Given the description of an element on the screen output the (x, y) to click on. 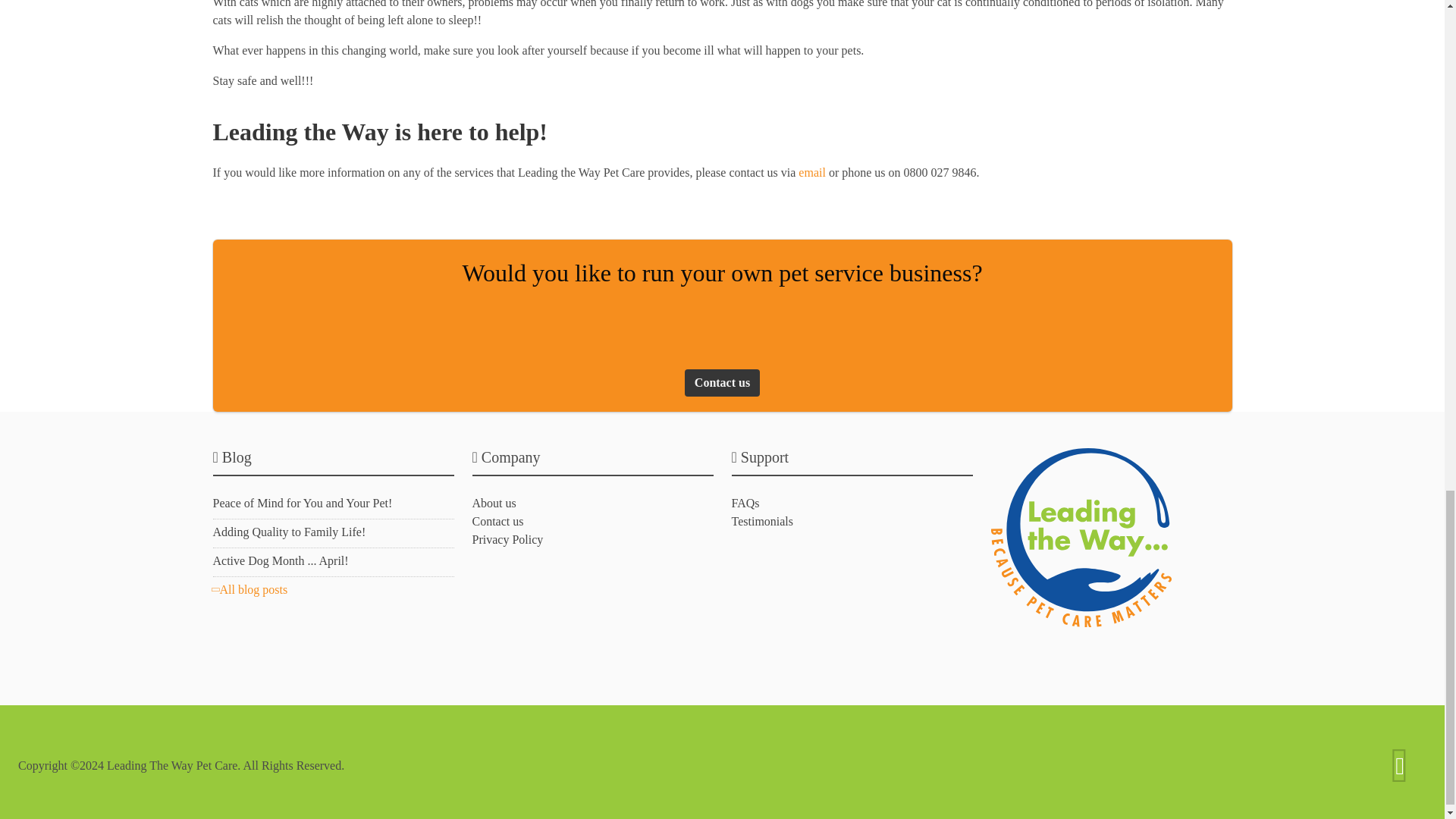
Contact us (496, 521)
Privacy Policy (507, 539)
Active Dog Month ... April! (279, 560)
FAQs (744, 502)
Peace of Mind for You and Your Pet! (301, 502)
Adding Quality to Family Life! (288, 531)
Testimonials (761, 521)
email (811, 172)
All blog posts (249, 589)
About us (493, 502)
